Given the description of an element on the screen output the (x, y) to click on. 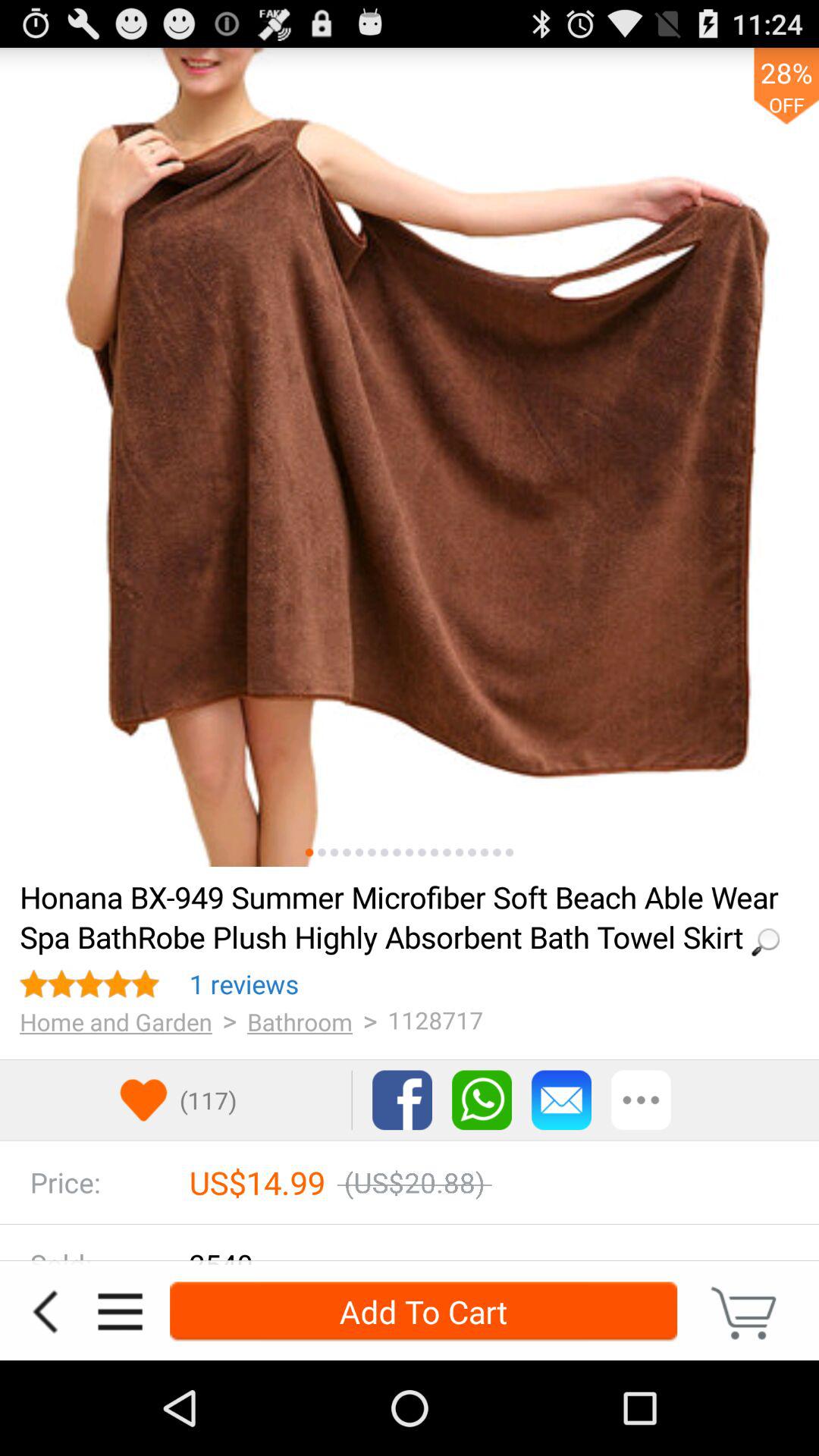
more options (120, 1311)
